Given the description of an element on the screen output the (x, y) to click on. 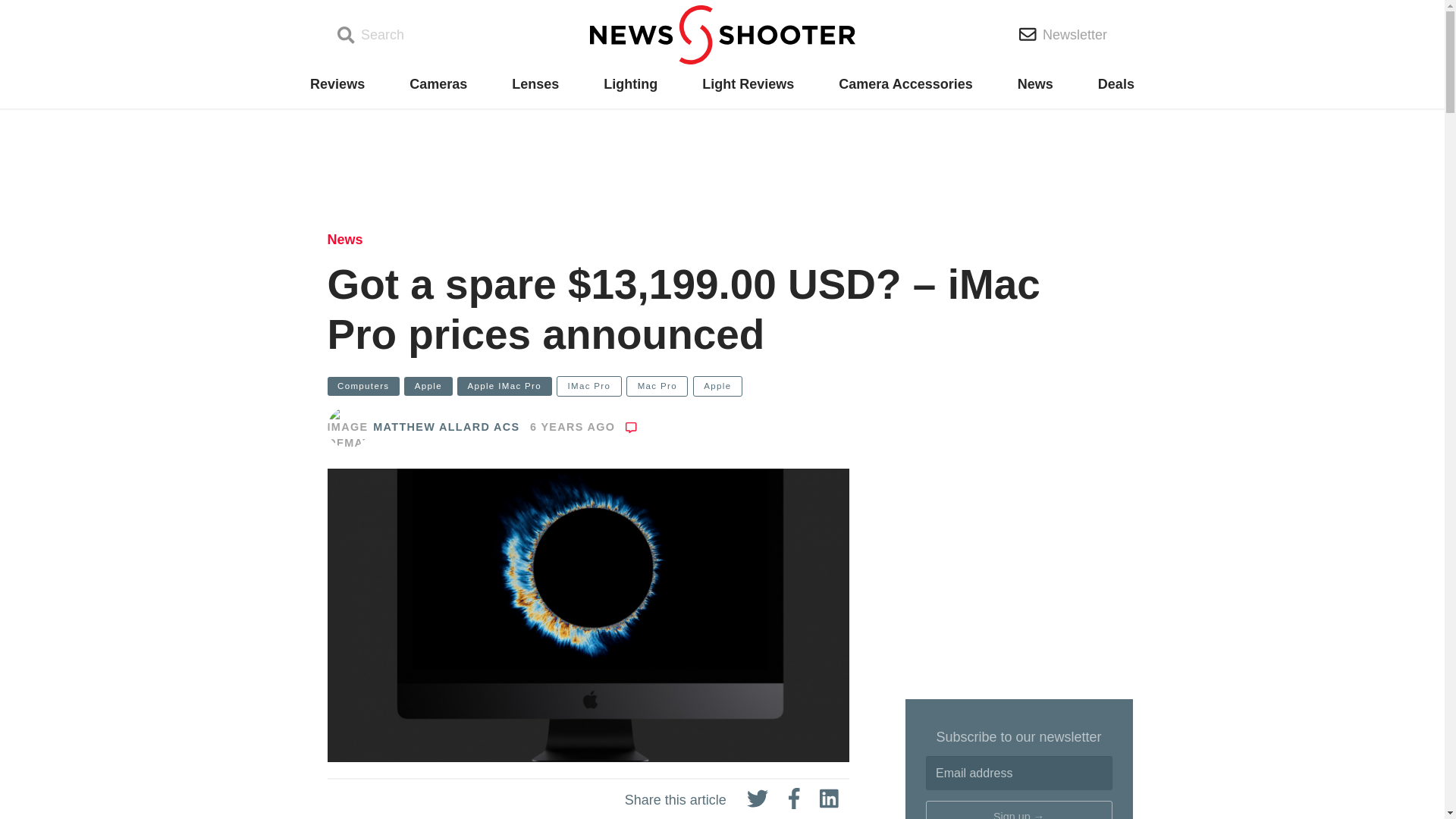
News (1034, 84)
Computers Apple Apple IMac Pro IMac Pro Mac Pro Apple (722, 386)
Computers (362, 385)
Camera Accessories (905, 84)
Apple IMac Pro (504, 385)
3rd party ad content (1018, 583)
Deals (1115, 84)
Lighting (631, 84)
Lenses (535, 84)
3rd party ad content (721, 164)
initial hands on look at the iMac Pro (574, 812)
Apple (427, 385)
iMac Pro (494, 793)
Mac Pro (656, 385)
IMac Pro (588, 385)
